Given the description of an element on the screen output the (x, y) to click on. 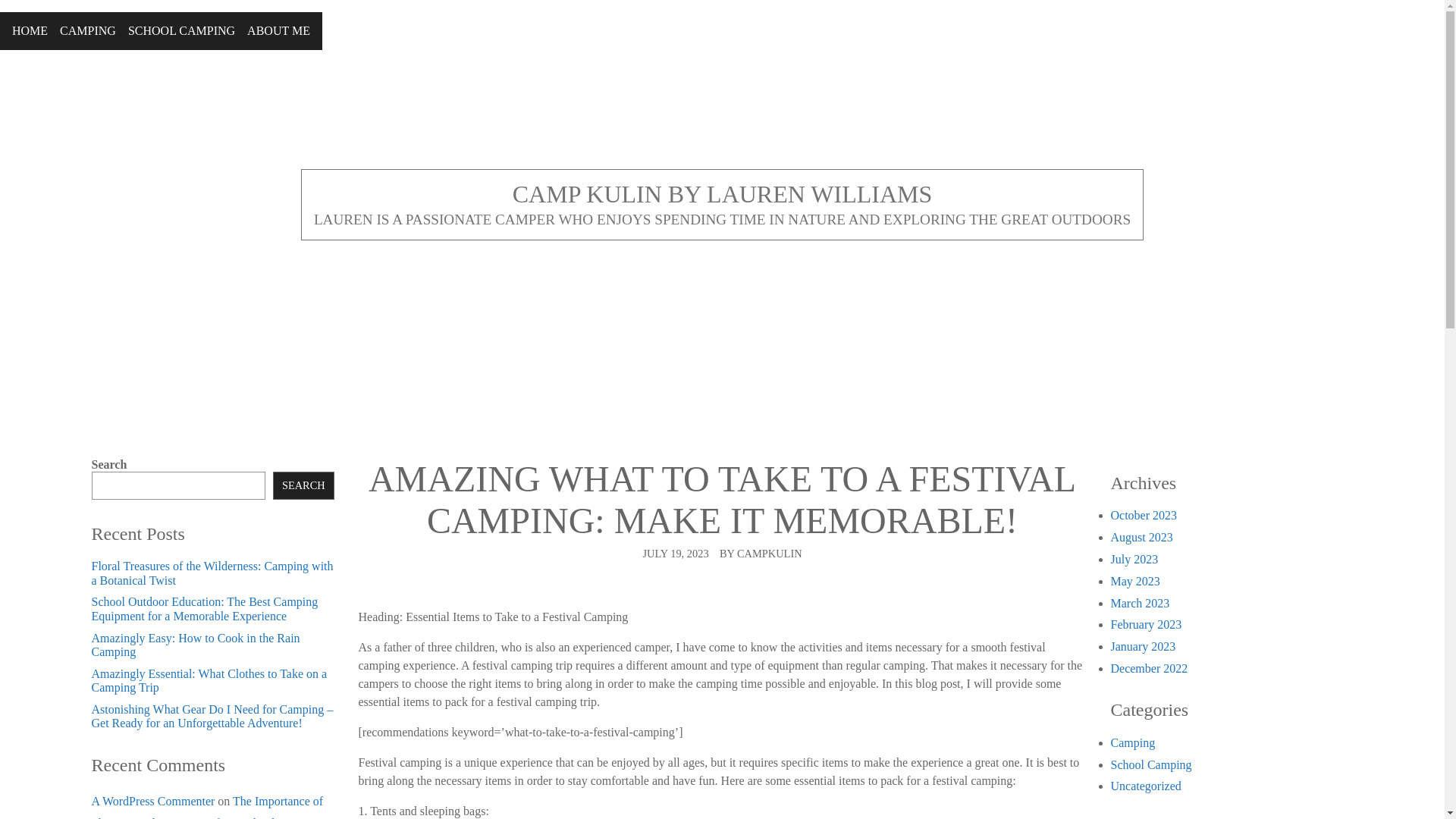
A WordPress Commenter (152, 800)
on (5, 17)
Camp Kulin by Lauren Williams (721, 194)
CAMP KULIN BY LAUREN WILLIAMS (721, 194)
Amazingly Easy: How to Cook in the Rain Camping (194, 644)
July 2023 (1133, 558)
October 2023 (1142, 514)
CAMPING (87, 30)
Amazingly Essential: What Clothes to Take on a Camping Trip (208, 680)
The Importance of Planning and Organizing for a School Camp (206, 806)
SCHOOL CAMPING (181, 30)
Camping (1131, 742)
SEARCH (303, 484)
